Given the description of an element on the screen output the (x, y) to click on. 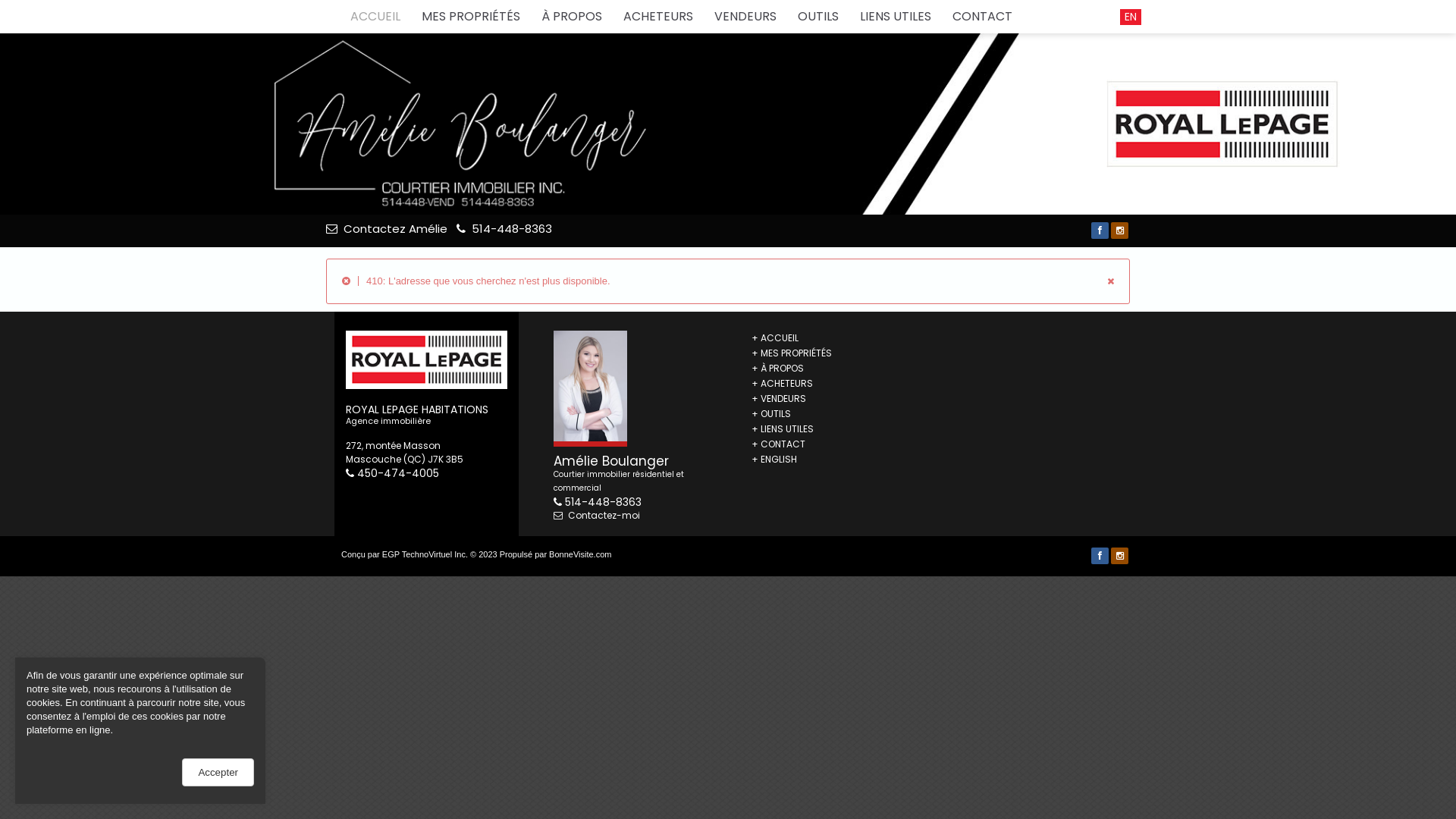
OUTILS Element type: text (775, 413)
Accepter Element type: text (218, 772)
ACHETEURS Element type: text (786, 382)
LIENS UTILES Element type: text (786, 428)
CONTACT Element type: text (782, 443)
VENDEURS Element type: text (783, 398)
 Contactez-moi Element type: text (596, 514)
LIENS UTILES Element type: text (895, 16)
ENGLISH Element type: text (778, 458)
CONTACT Element type: text (982, 16)
ACCUEIL Element type: text (779, 337)
EN Element type: text (1130, 16)
ACCUEIL Element type: text (375, 16)
